Given the description of an element on the screen output the (x, y) to click on. 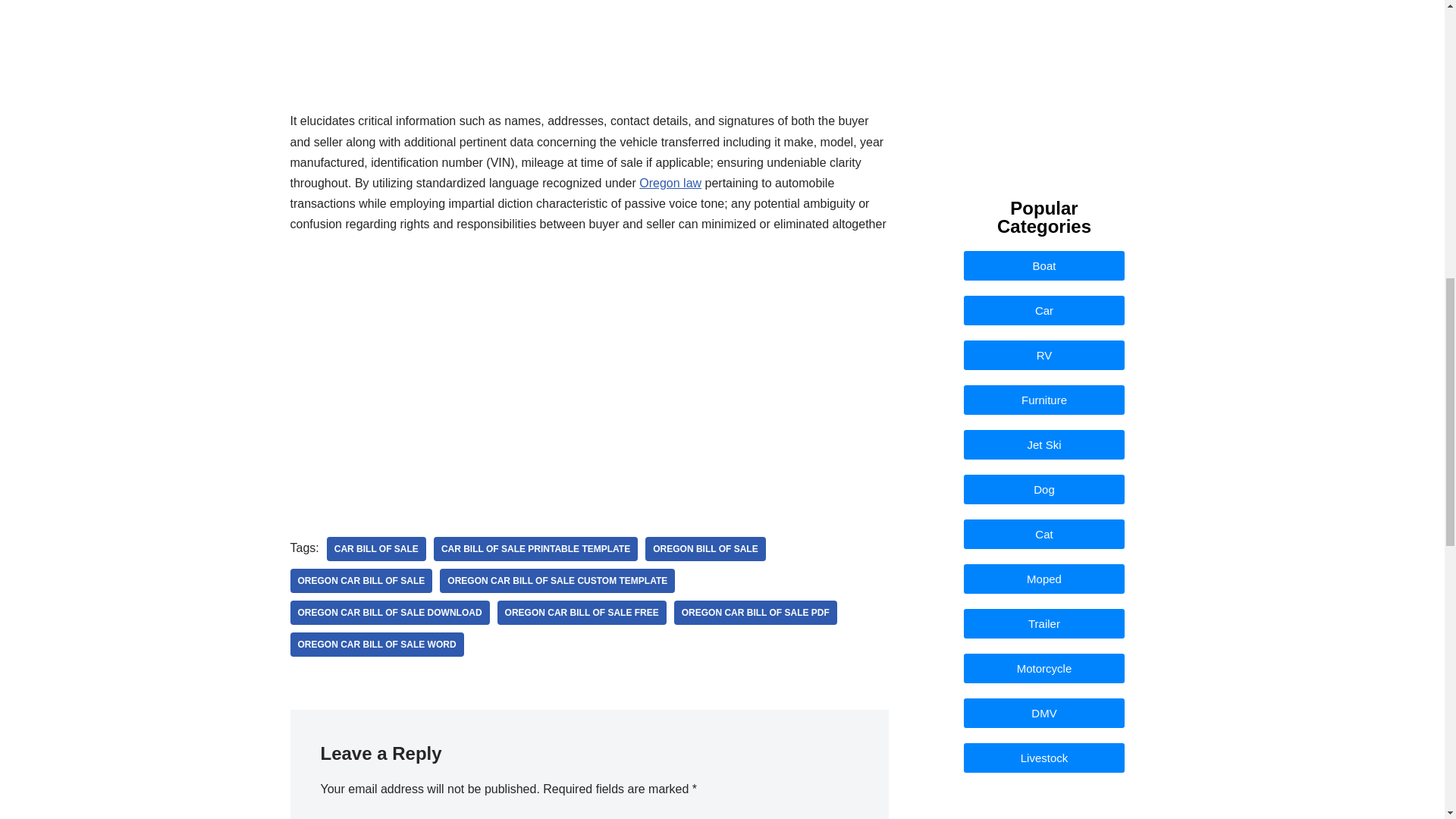
OREGON CAR BILL OF SALE PDF (755, 612)
CAR BILL OF SALE PRINTABLE TEMPLATE (535, 549)
Boat (1044, 265)
Oregon law (670, 182)
Oregon Car Bill Of Sale Free (581, 612)
Dog (1044, 489)
Oregon Car Bill Of Sale PDF (755, 612)
OREGON CAR BILL OF SALE WORD (376, 644)
OREGON CAR BILL OF SALE (360, 580)
Oregon Car Bill Of Sale (360, 580)
Furniture (1044, 399)
Car (1044, 310)
Oregon Car Bill Of Sale Custom Template (557, 580)
OREGON CAR BILL OF SALE CUSTOM TEMPLATE (557, 580)
OREGON CAR BILL OF SALE DOWNLOAD (389, 612)
